Given the description of an element on the screen output the (x, y) to click on. 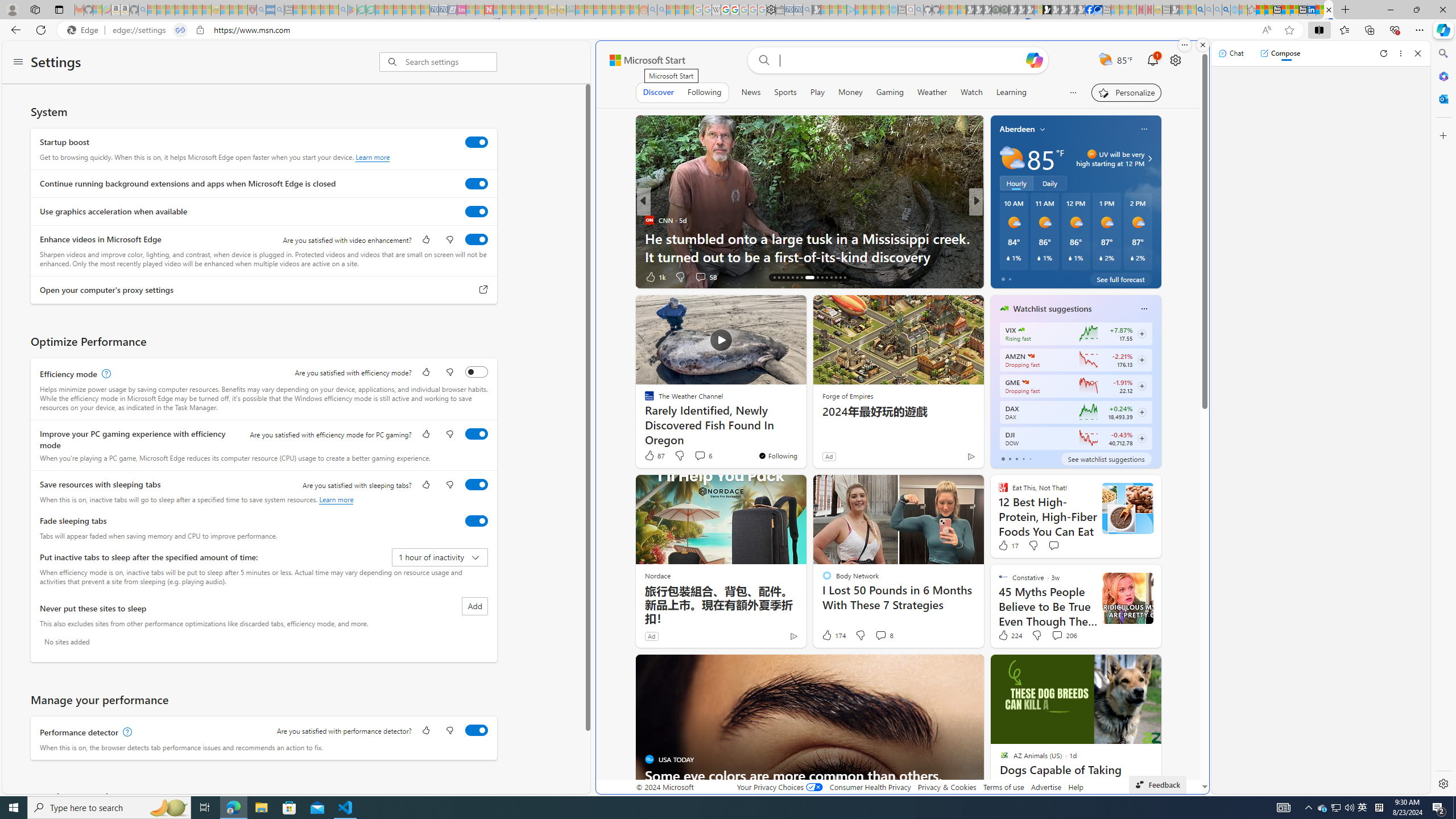
Microsoft account | Privacy - Sleeping (841, 9)
Sign in to your account - Sleeping (1038, 9)
Learning (1010, 92)
Settings menu (18, 62)
Notifications (1152, 60)
AutomationID: tab-26 (826, 277)
MSNBC - MSN - Sleeping (579, 9)
Google Chrome Internet Browser Download - Search Images (1225, 9)
Hide this story (949, 668)
Web search (762, 60)
Show more topics (1073, 92)
Nordace | Facebook (1089, 9)
